Given the description of an element on the screen output the (x, y) to click on. 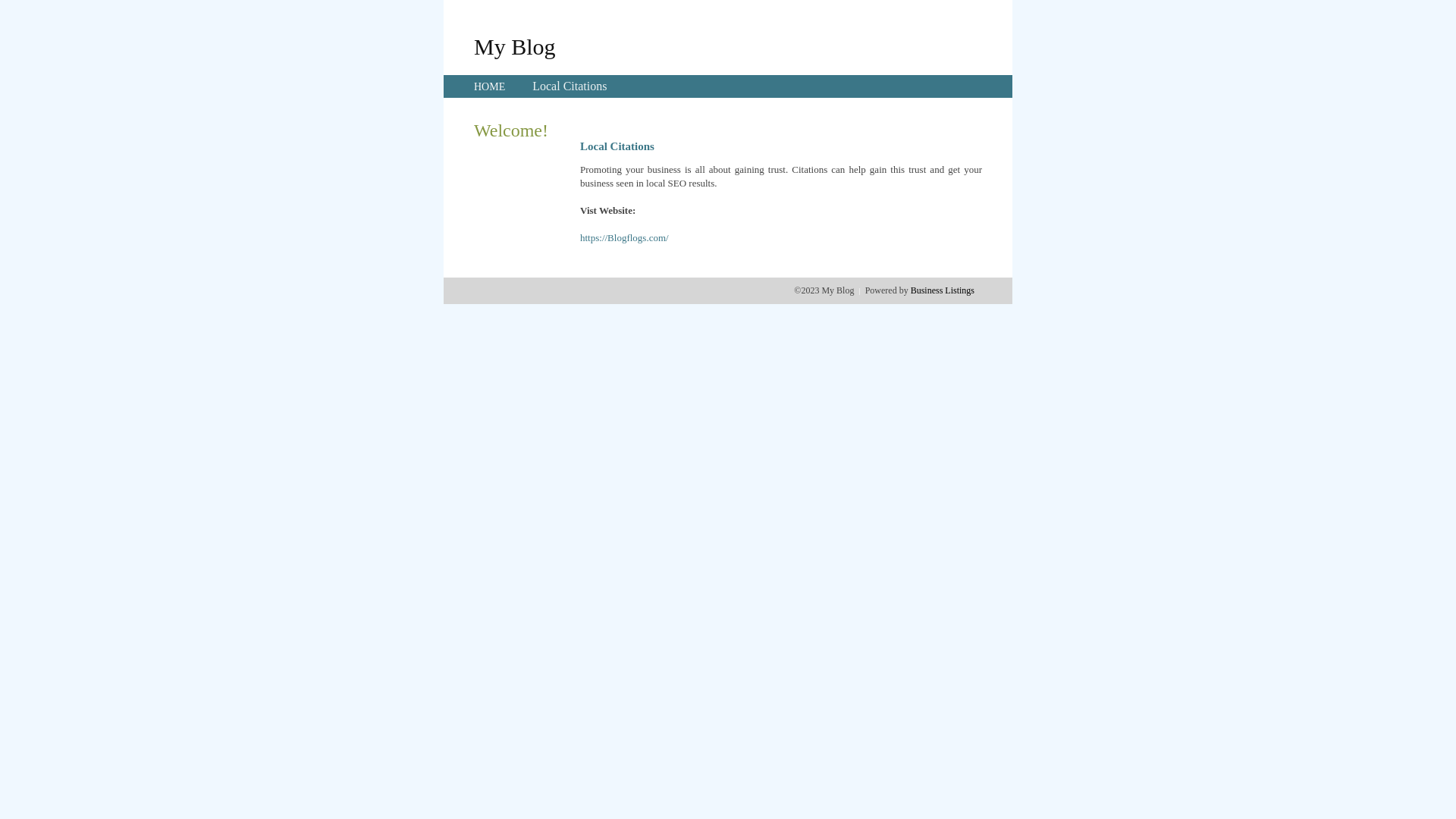
https://Blogflogs.com/ Element type: text (624, 237)
My Blog Element type: text (514, 46)
Business Listings Element type: text (942, 290)
HOME Element type: text (489, 86)
Local Citations Element type: text (569, 85)
